Given the description of an element on the screen output the (x, y) to click on. 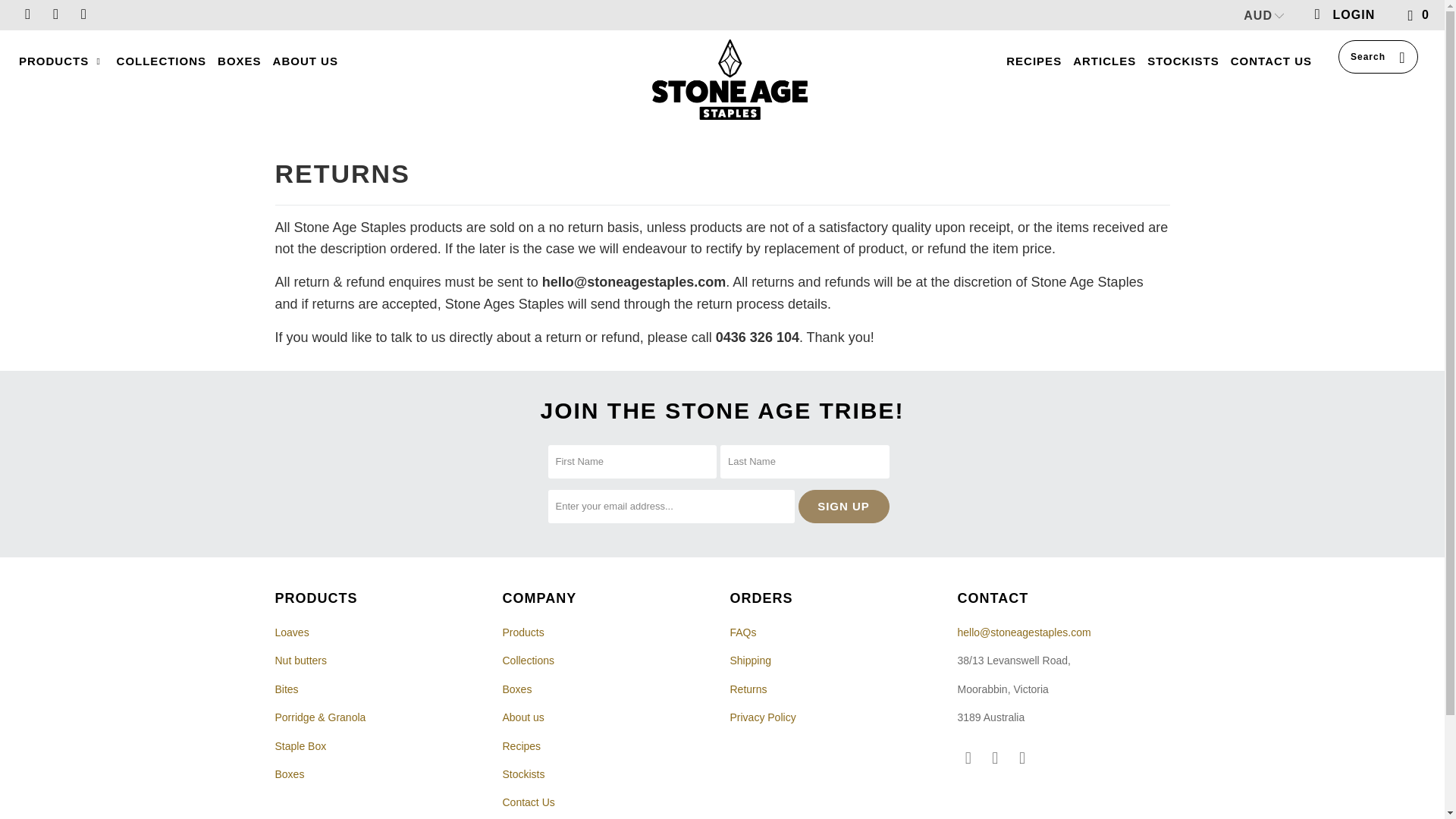
BOXES (239, 61)
My Account  (1342, 15)
Sign Up (842, 506)
Stone Age Staples on Instagram (55, 14)
STOCKISTS (1183, 61)
COLLECTIONS (161, 61)
Email Stone Age Staples (83, 14)
Stone Age Staples on Facebook (967, 758)
ABOUT US (305, 61)
RECIPES (1033, 61)
